Given the description of an element on the screen output the (x, y) to click on. 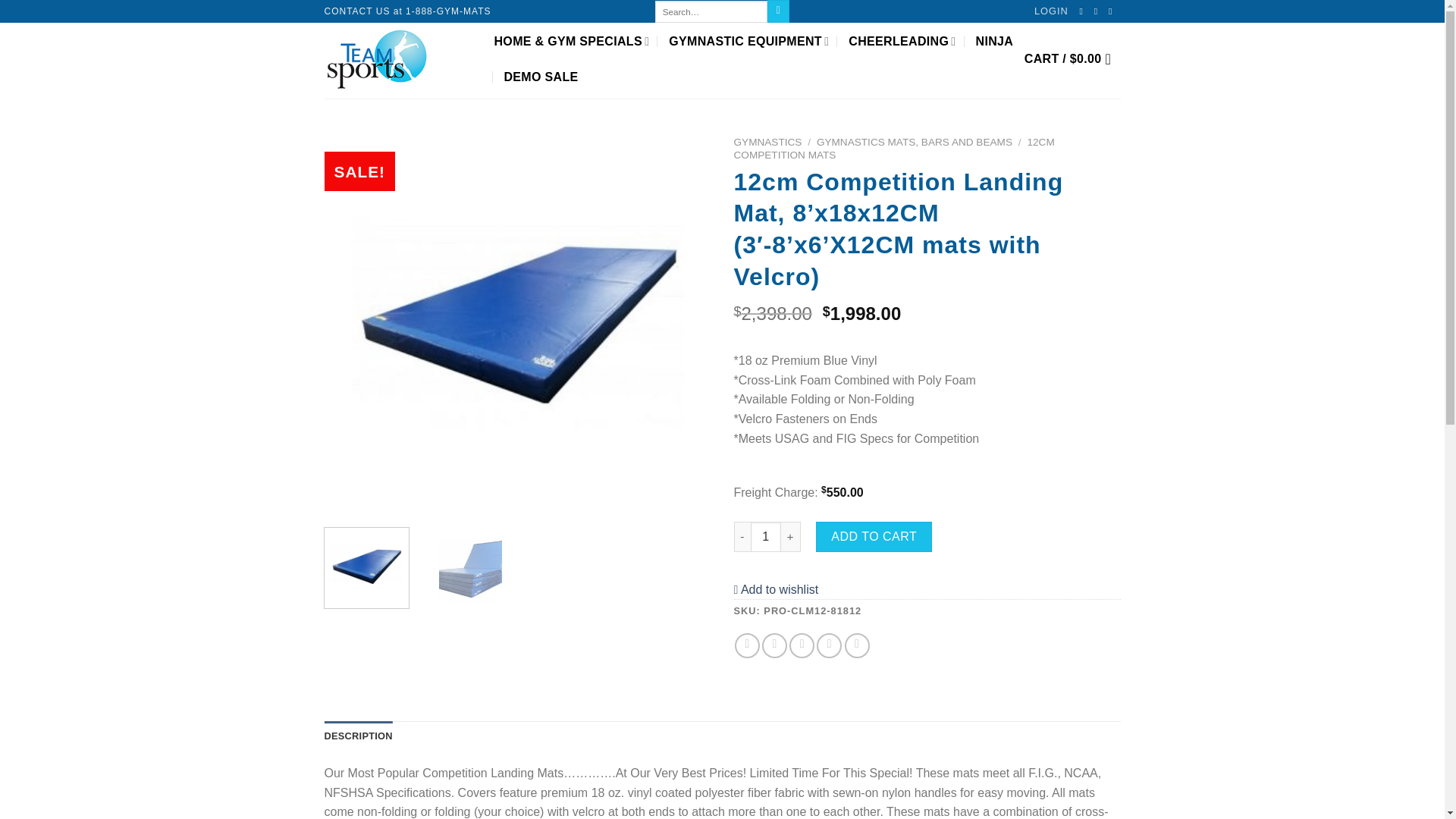
Share on Twitter (774, 645)
Share on LinkedIn (856, 645)
Search (778, 11)
1 (765, 536)
Qty (765, 536)
LOGIN (1050, 11)
CHEERLEADING (901, 40)
GYMNASTIC EQUIPMENT (748, 40)
Pin on Pinterest (828, 645)
NINJA (994, 40)
Email to a Friend (801, 645)
DEMO SALE (540, 76)
Share on Facebook (747, 645)
Cart (1073, 58)
